Given the description of an element on the screen output the (x, y) to click on. 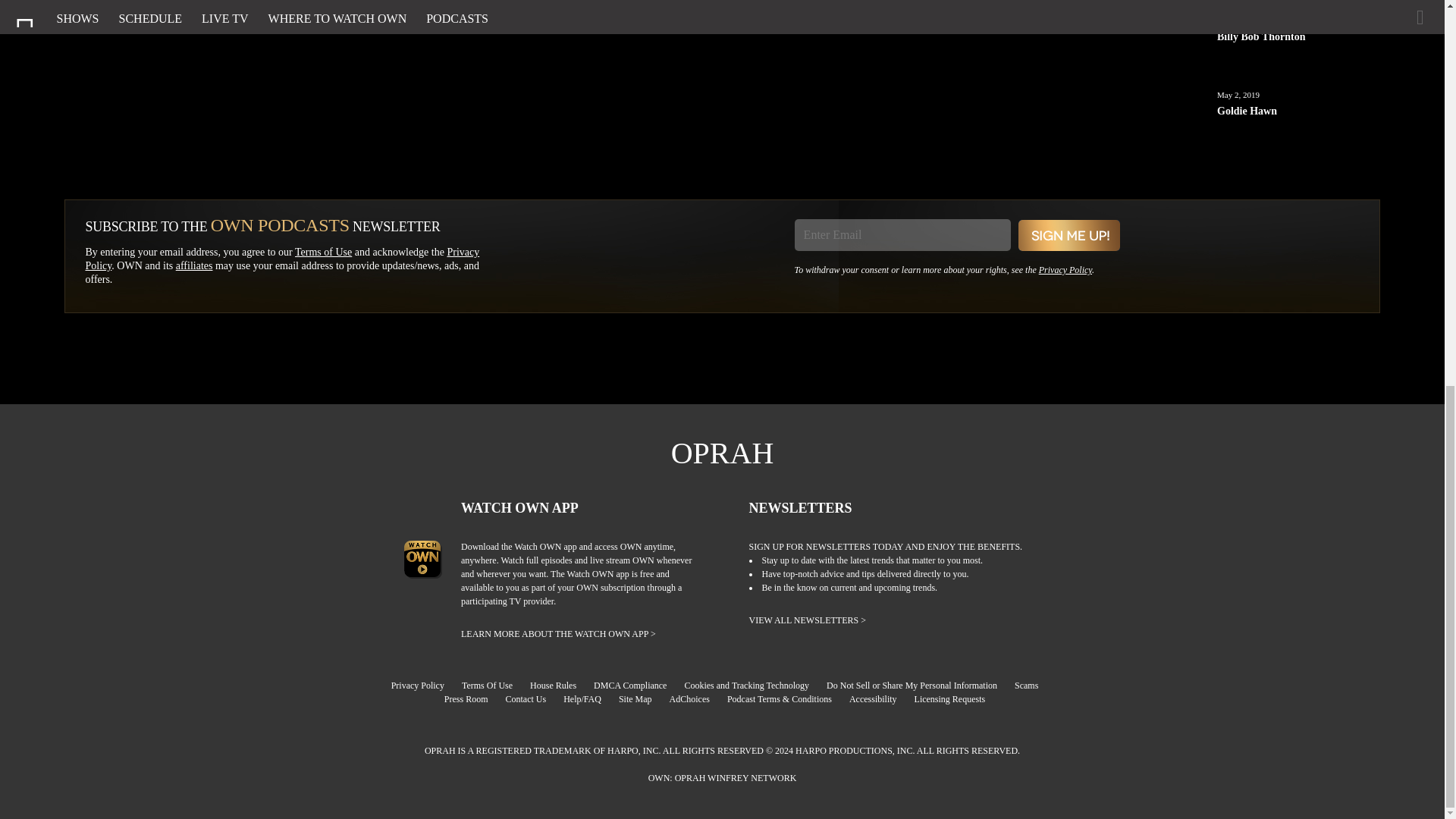
Billy Bob Thornton (1298, 56)
Terms of Use (323, 251)
Privacy Policy (281, 258)
Goldie Hawn (1298, 130)
Diahann Carroll (1298, 6)
May 2, 2019 (1238, 94)
May 9, 2019 (1238, 20)
